Given the description of an element on the screen output the (x, y) to click on. 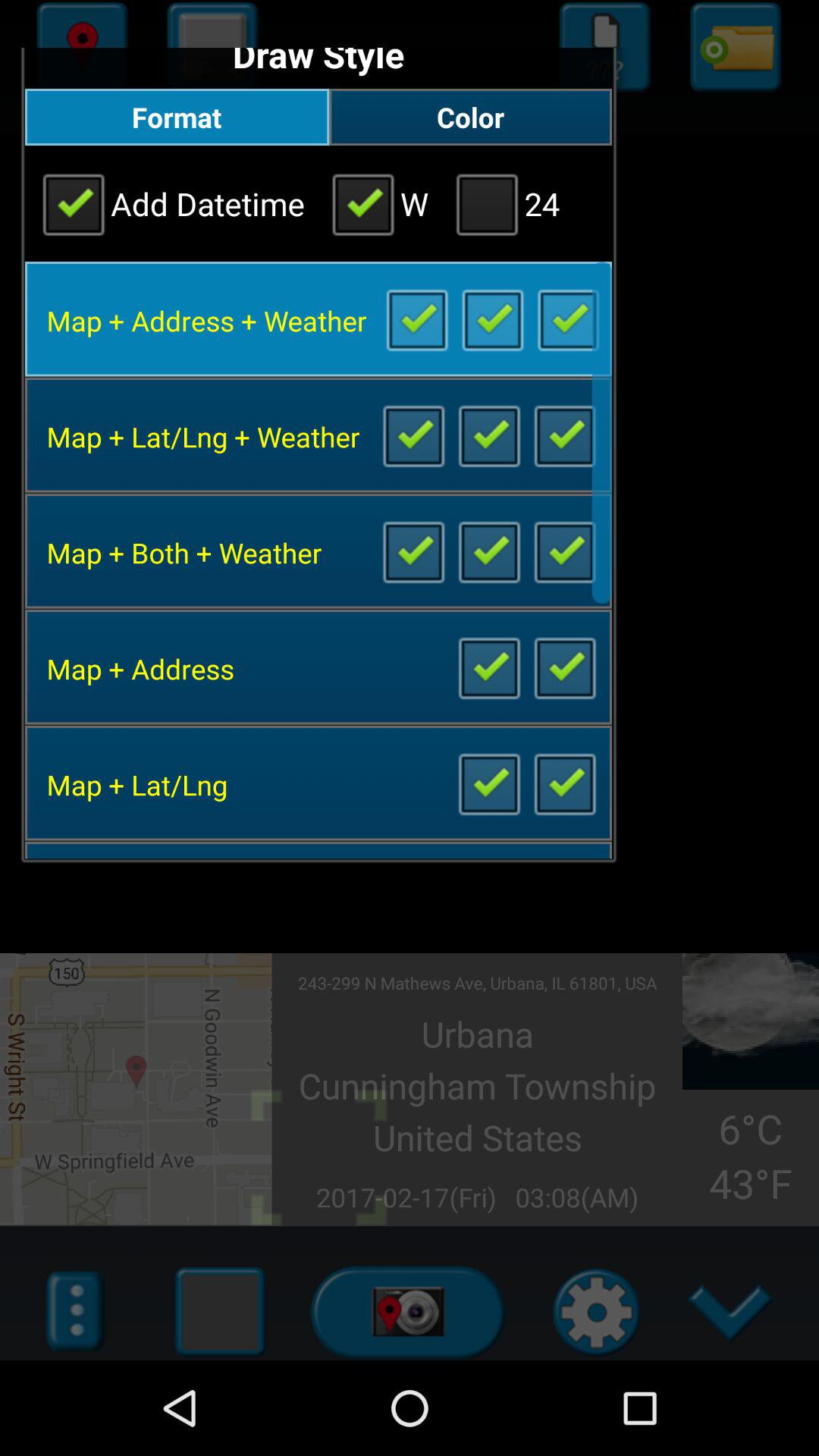
include both map weather (488, 550)
